Given the description of an element on the screen output the (x, y) to click on. 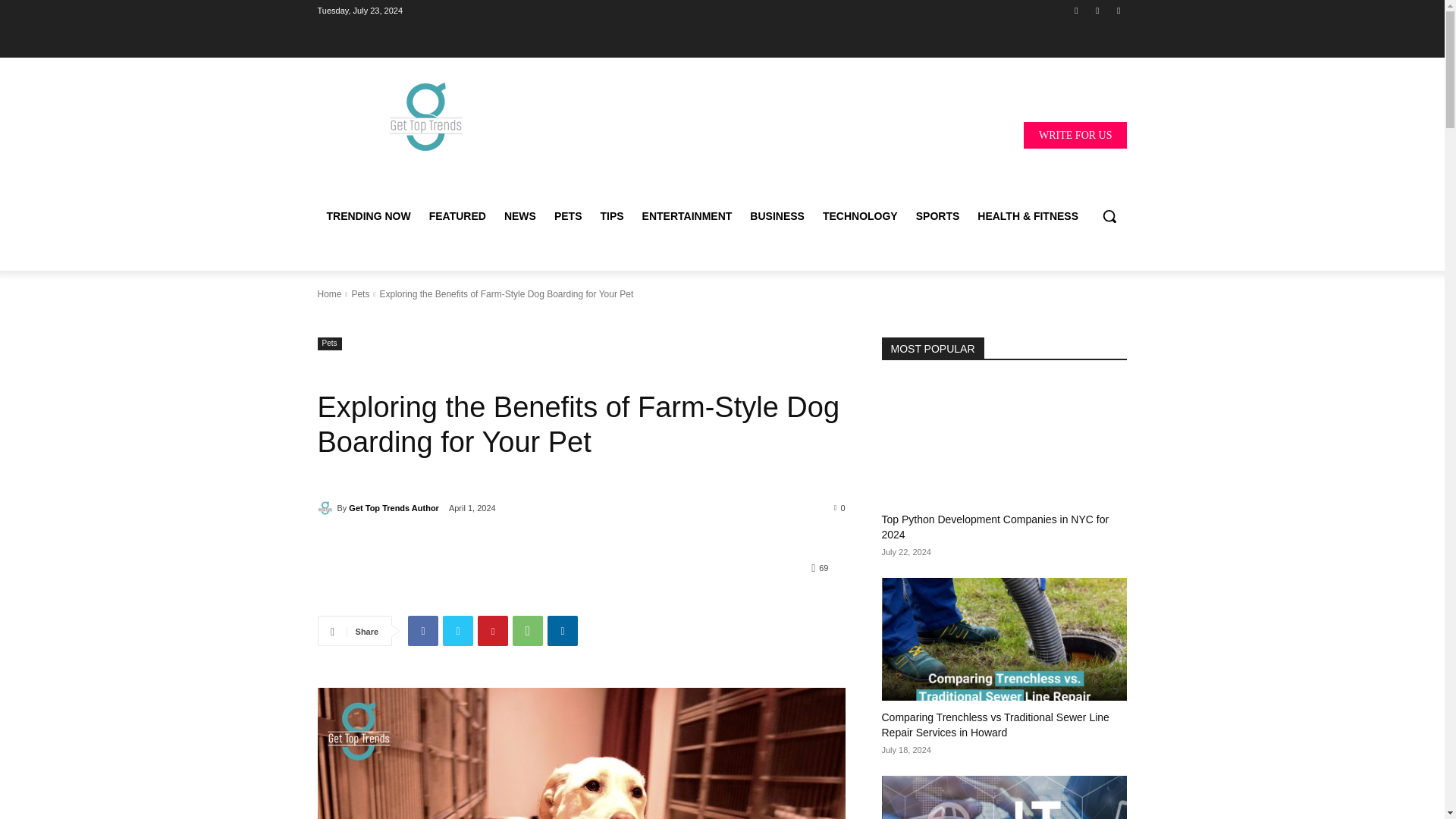
Get Top Trends Author (326, 507)
WRITE FOR US (1074, 134)
Facebook (1075, 9)
TRENDING NOW (368, 216)
Twitter (1117, 9)
View all posts in Pets (359, 294)
Instagram (1097, 9)
SPORTS (938, 216)
Twitter (457, 630)
NEWS (519, 216)
TECHNOLOGY (860, 216)
Facebook (422, 630)
Home (328, 294)
BUSINESS (777, 216)
FEATURED (457, 216)
